Given the description of an element on the screen output the (x, y) to click on. 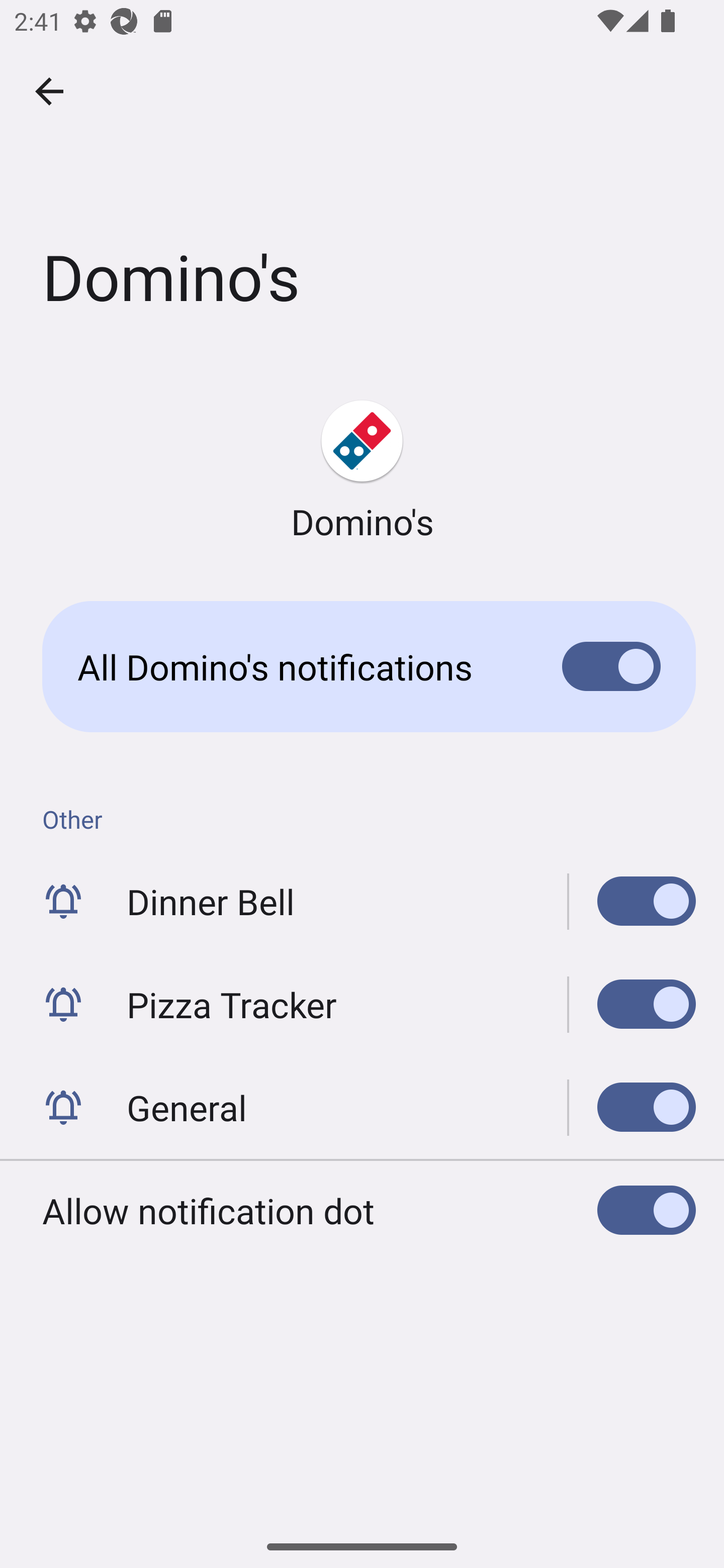
Navigate up (49, 91)
Domino's (362, 464)
Domino's (361, 471)
All Domino's notifications (362, 666)
Dinner Bell (362, 901)
Dinner Bell (632, 901)
Pizza Tracker (362, 1004)
Pizza Tracker (632, 1004)
General (362, 1106)
General (632, 1106)
Allow notification dot (362, 1210)
